Given the description of an element on the screen output the (x, y) to click on. 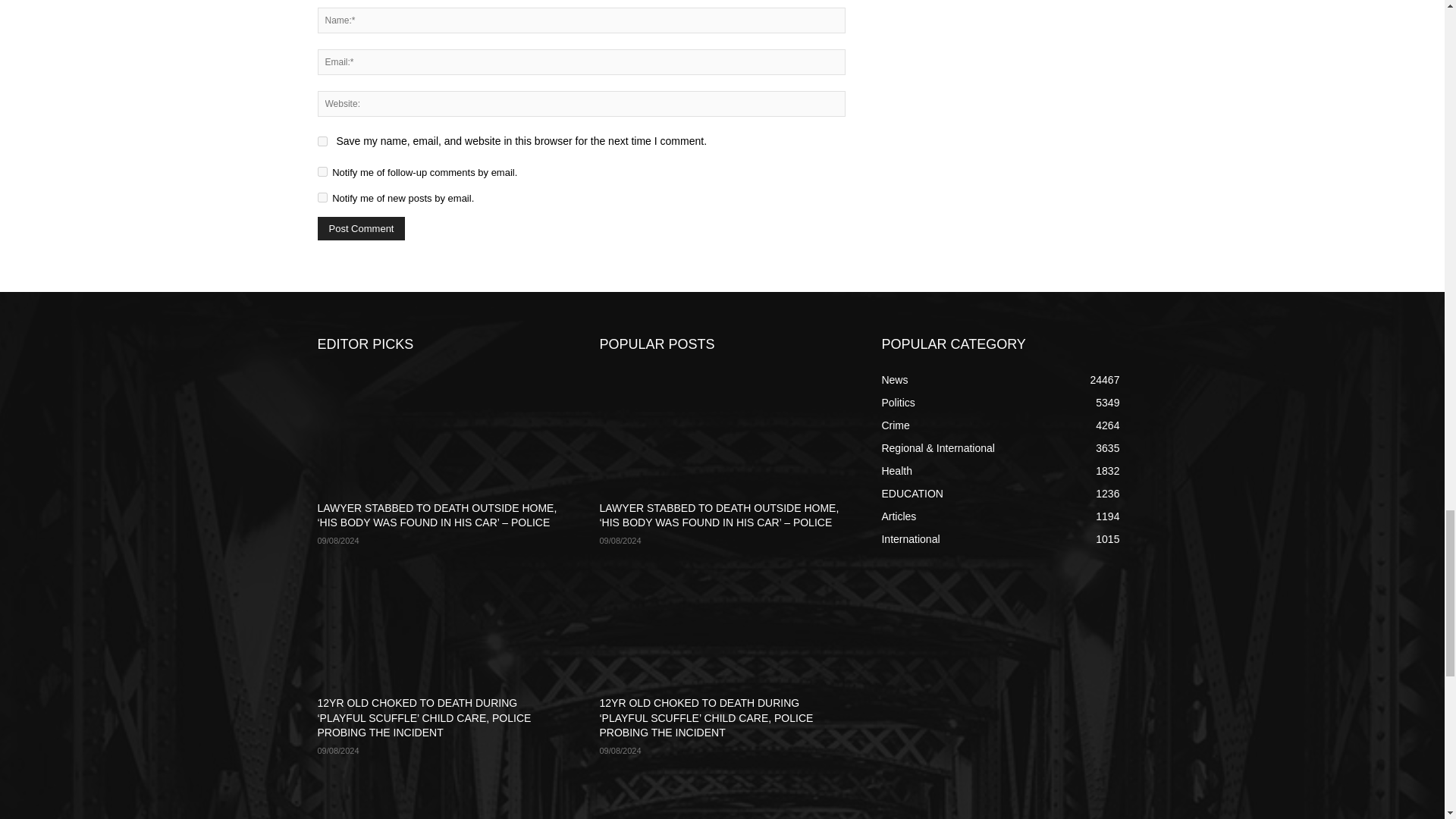
subscribe (321, 197)
subscribe (321, 171)
Post Comment (360, 228)
yes (321, 141)
